Given the description of an element on the screen output the (x, y) to click on. 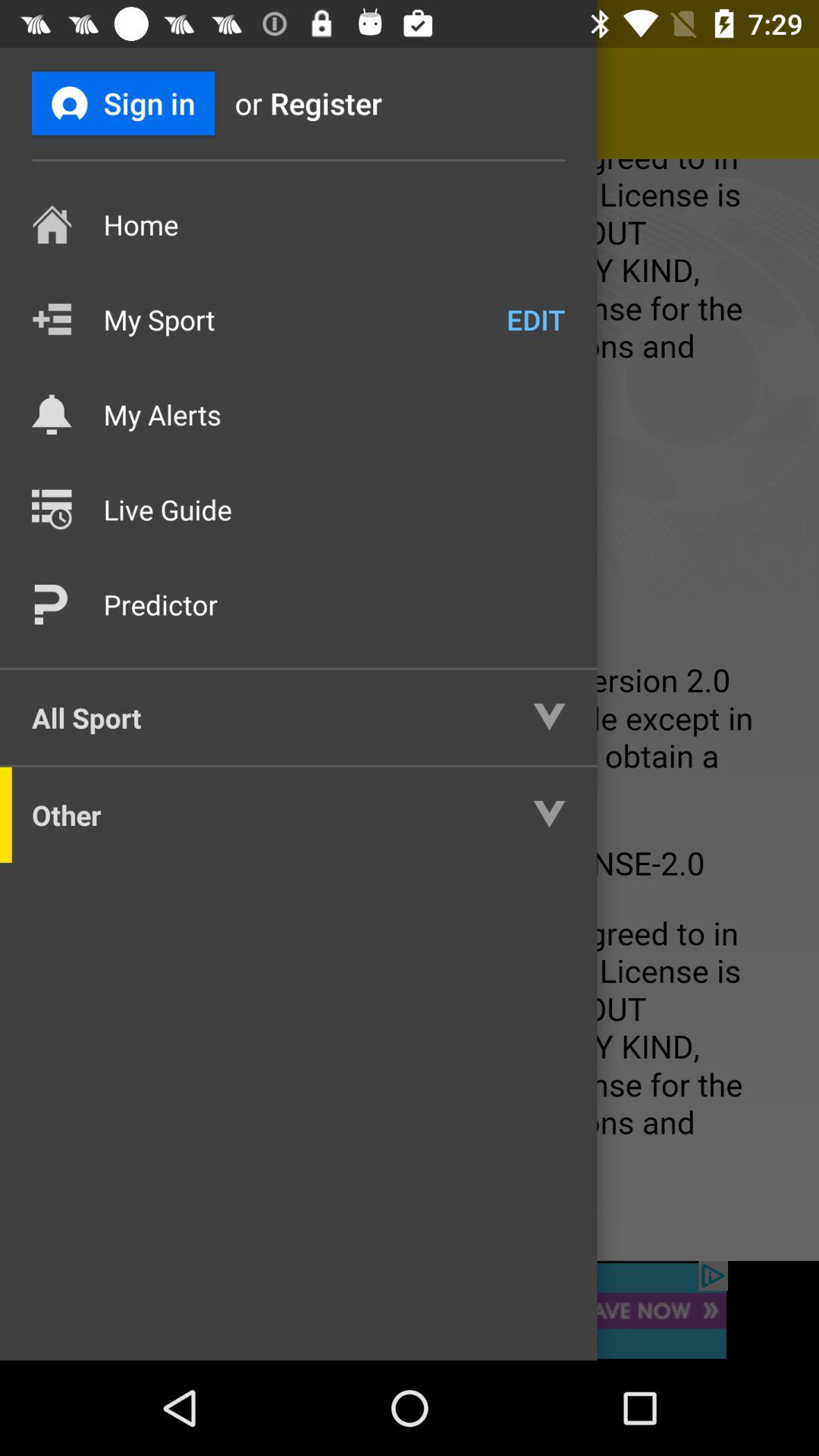
menu with home my sport page my alerts live guide and predictor two more interactive buttons (409, 709)
